Given the description of an element on the screen output the (x, y) to click on. 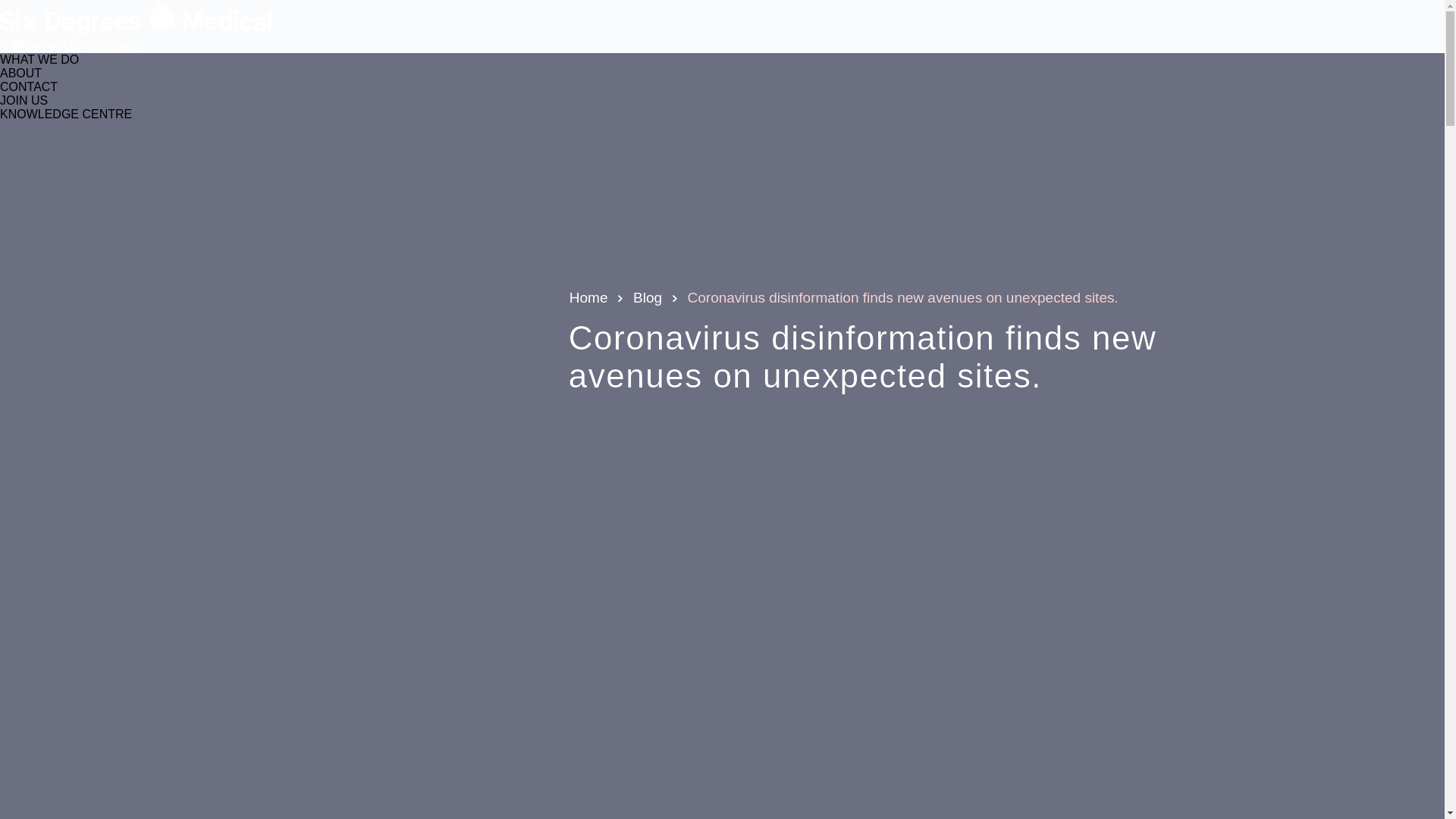
Blog (647, 298)
Home (588, 298)
